Given the description of an element on the screen output the (x, y) to click on. 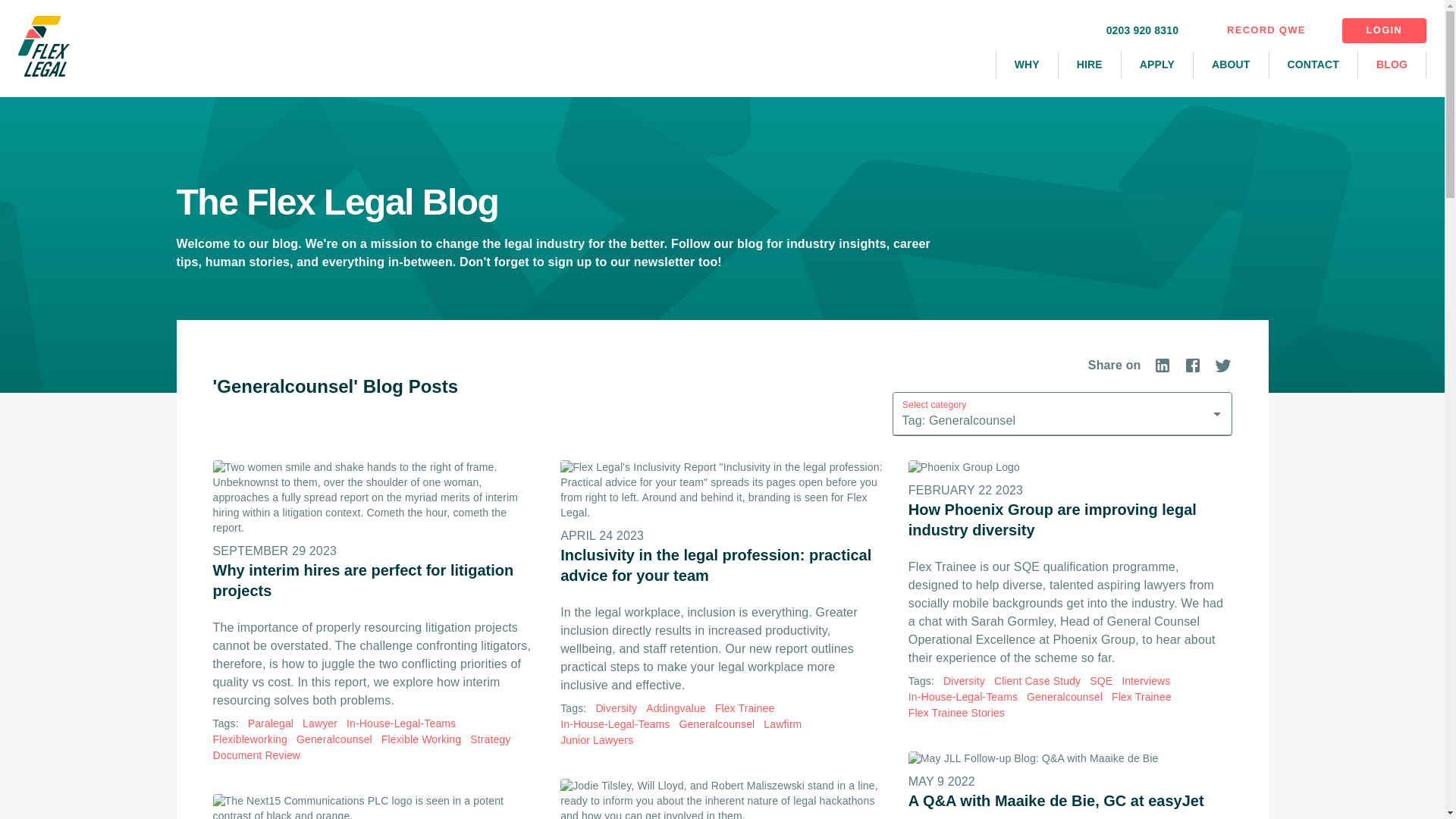
APPLY (1156, 64)
Blog banner legal hackathon NO TEXT (721, 798)
Flexibleworking (249, 739)
Strategy (490, 739)
Lawyer (319, 723)
LOGIN (1384, 30)
Phoenix Group Logo (1069, 467)
Flexible Working (421, 739)
Paralegal (270, 723)
BLOG (1391, 64)
WHY (1026, 64)
In-House-Legal-Teams (400, 723)
Interim Hires in Litigation Matters Blog Banner (373, 498)
Document Review (255, 755)
RECORD QWE (1266, 30)
